Given the description of an element on the screen output the (x, y) to click on. 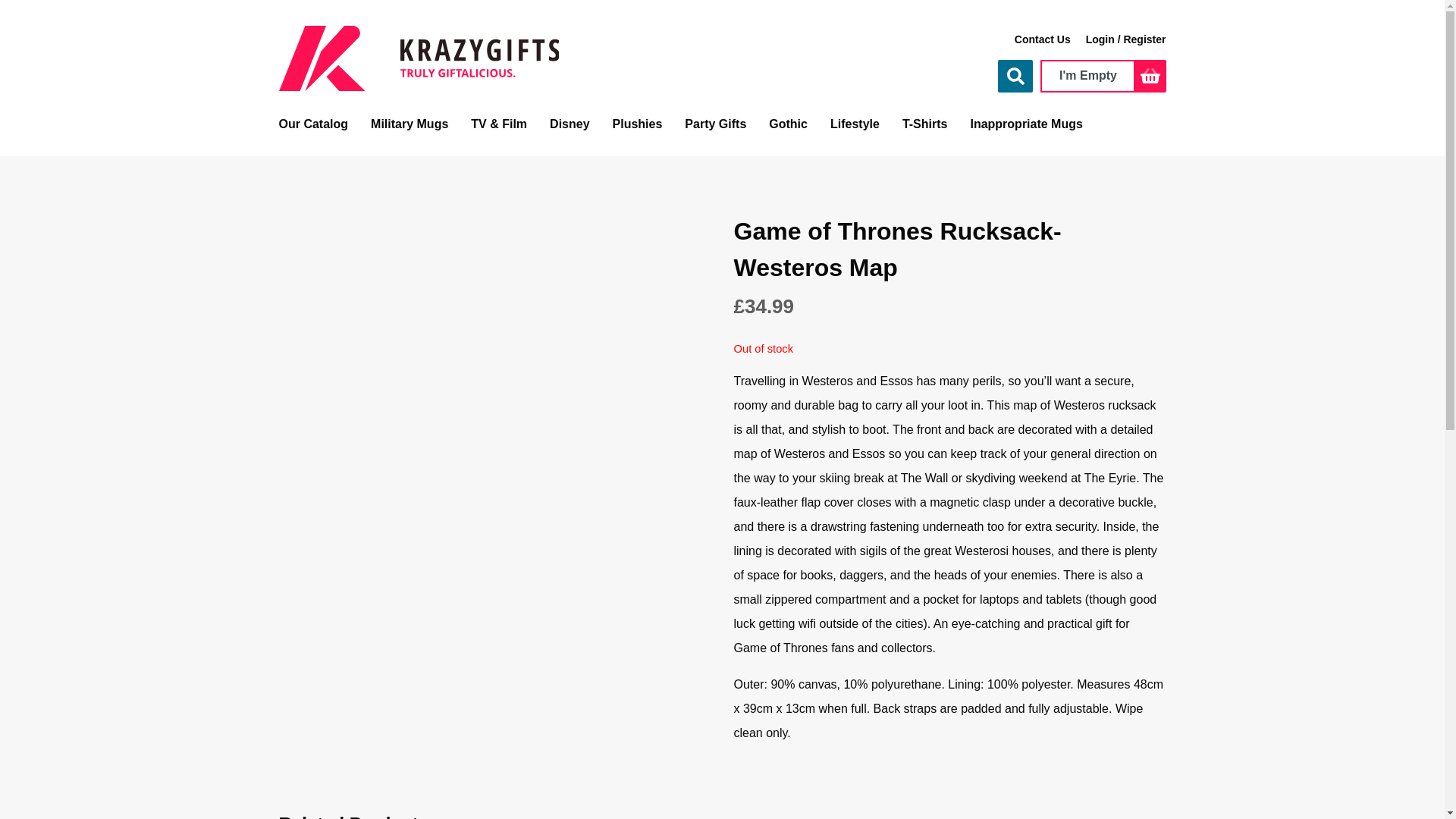
Plushies (637, 123)
Military Mugs (409, 123)
Contact Us (1042, 39)
Inappropriate Mugs (1025, 123)
Lifestyle (854, 123)
Our Catalog (314, 123)
Disney (569, 123)
T-Shirts (924, 123)
I'm Empty (1088, 75)
Party Gifts (714, 123)
Gothic (788, 123)
